Given the description of an element on the screen output the (x, y) to click on. 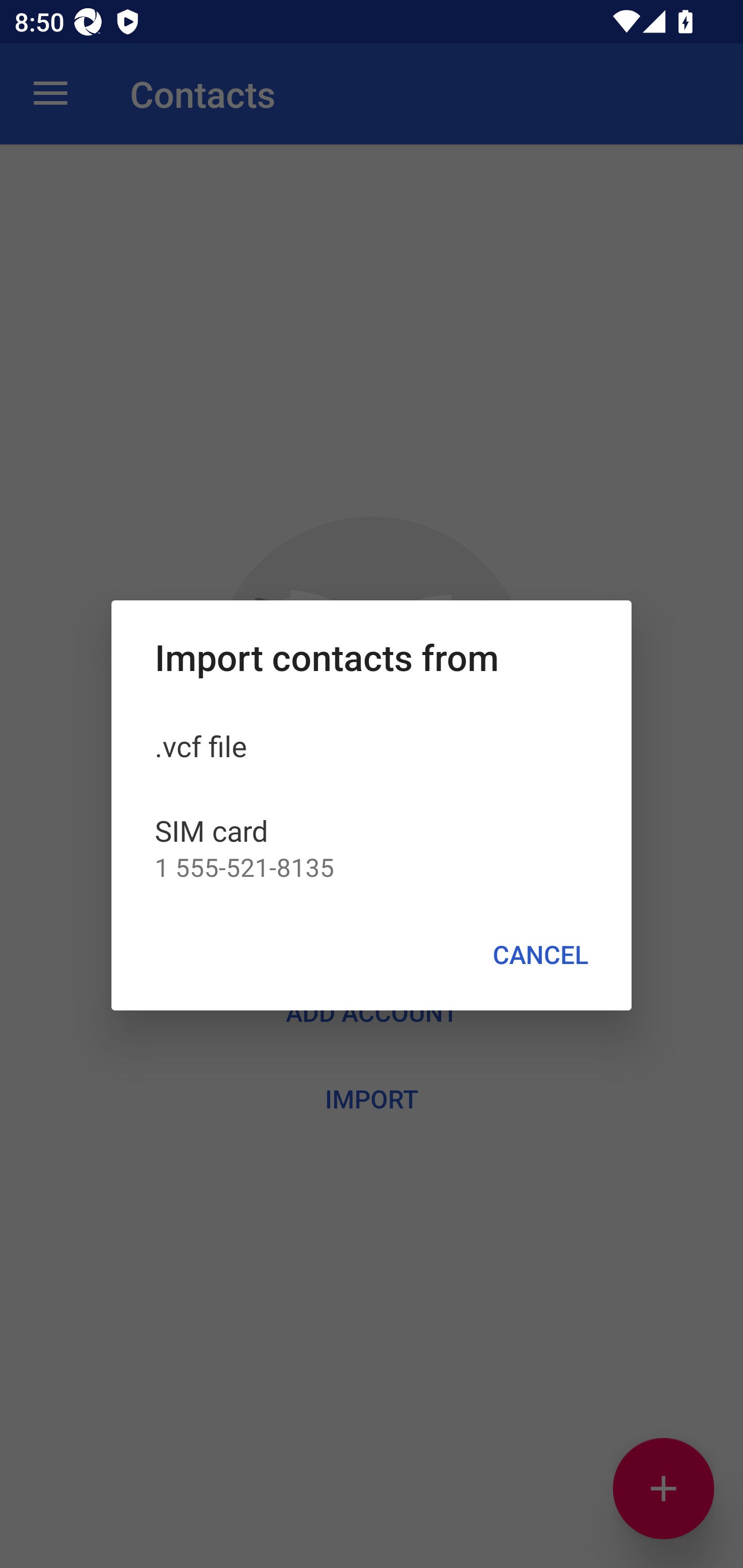
.vcf file (371, 745)
SIM card 1 555-521-8135 (371, 847)
CANCEL (540, 954)
